Given the description of an element on the screen output the (x, y) to click on. 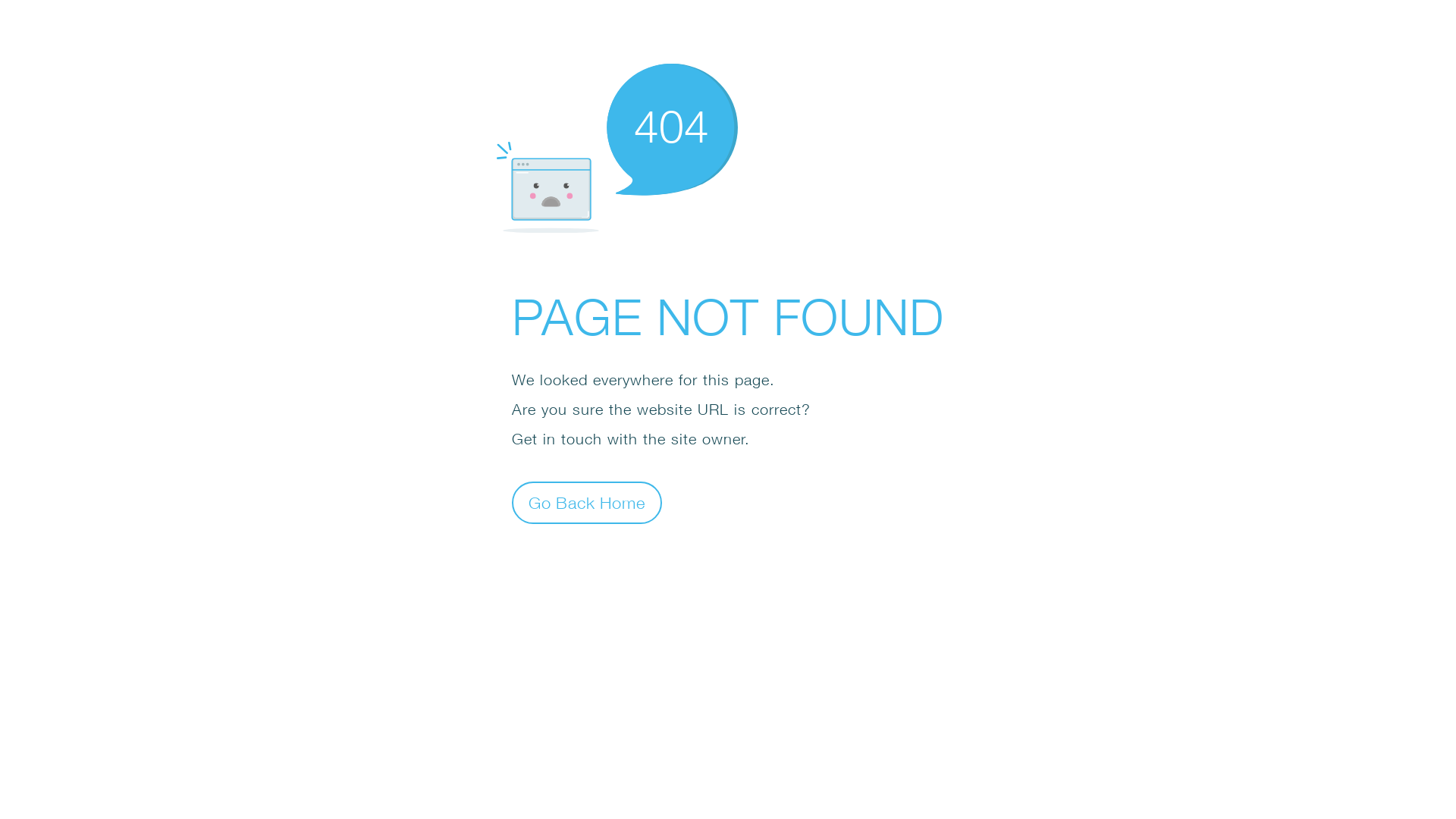
Go Back Home Element type: text (586, 502)
